Given the description of an element on the screen output the (x, y) to click on. 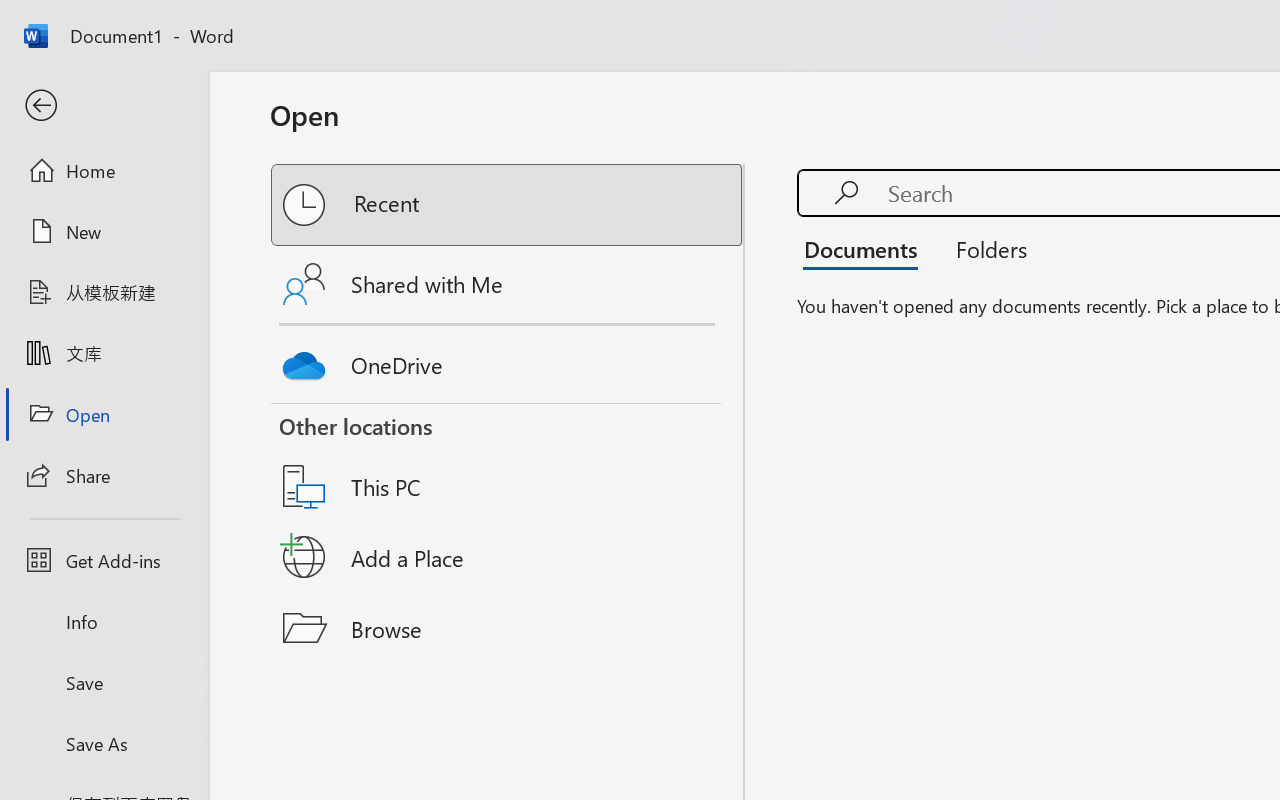
New (104, 231)
Folders (984, 248)
OneDrive (507, 359)
This PC (507, 461)
Save As (104, 743)
Get Add-ins (104, 560)
Add a Place (507, 557)
Browse (507, 627)
Shared with Me (507, 283)
